Given the description of an element on the screen output the (x, y) to click on. 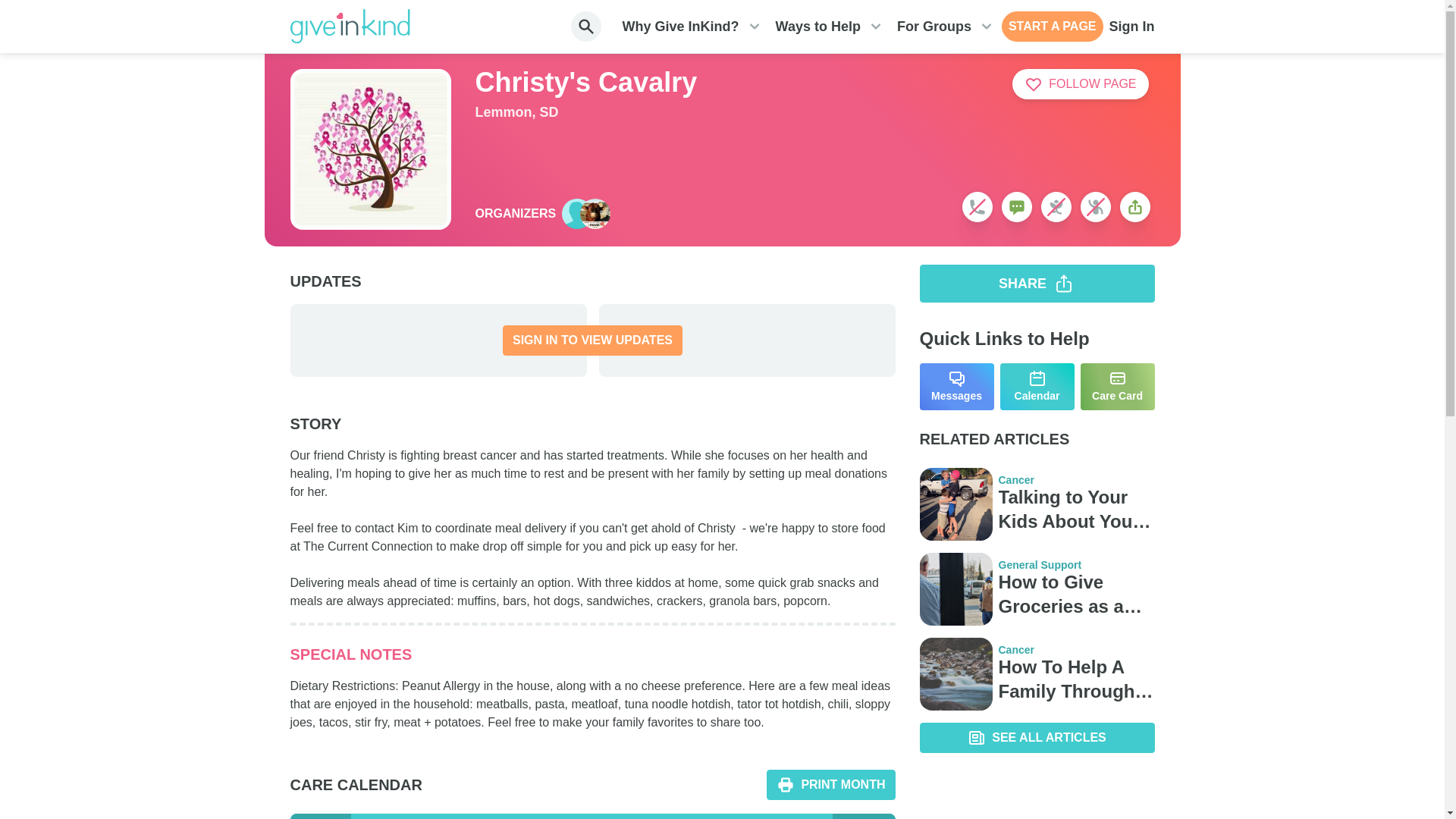
JUL (319, 816)
Messages (955, 386)
SHARE (1036, 283)
Ways to Help (818, 27)
For Groups (933, 27)
SEP (863, 816)
START A PAGE (1052, 26)
SIGN IN TO VIEW UPDATES (592, 340)
PRINT MONTH (831, 784)
Why Give InKind? (681, 27)
